Given the description of an element on the screen output the (x, y) to click on. 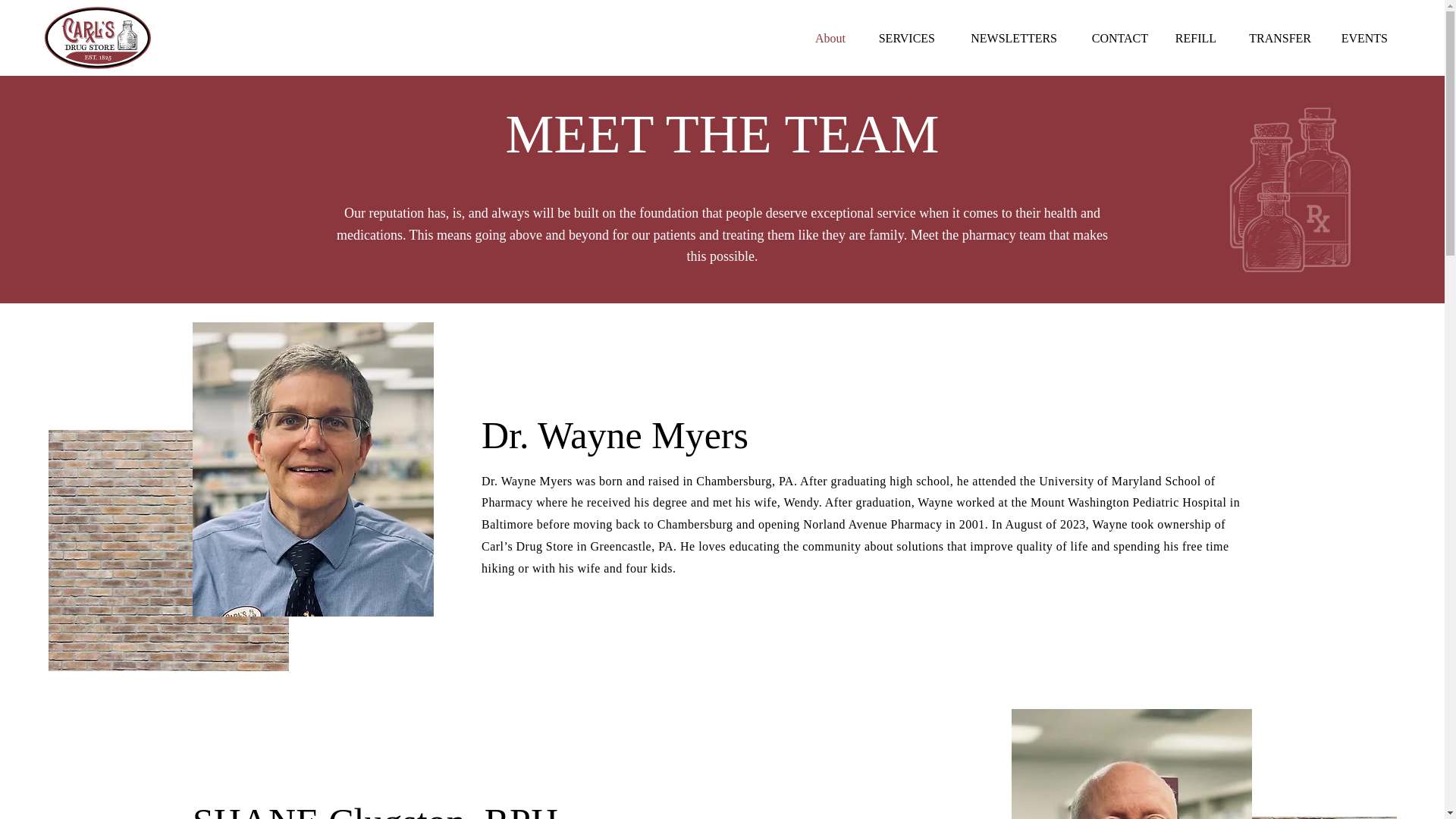
TRANSFER (1274, 38)
EVENTS (1360, 38)
CONTACT (1113, 38)
SERVICES (901, 38)
REFILL (1192, 38)
NEWSLETTERS (1007, 38)
About (820, 38)
